Given the description of an element on the screen output the (x, y) to click on. 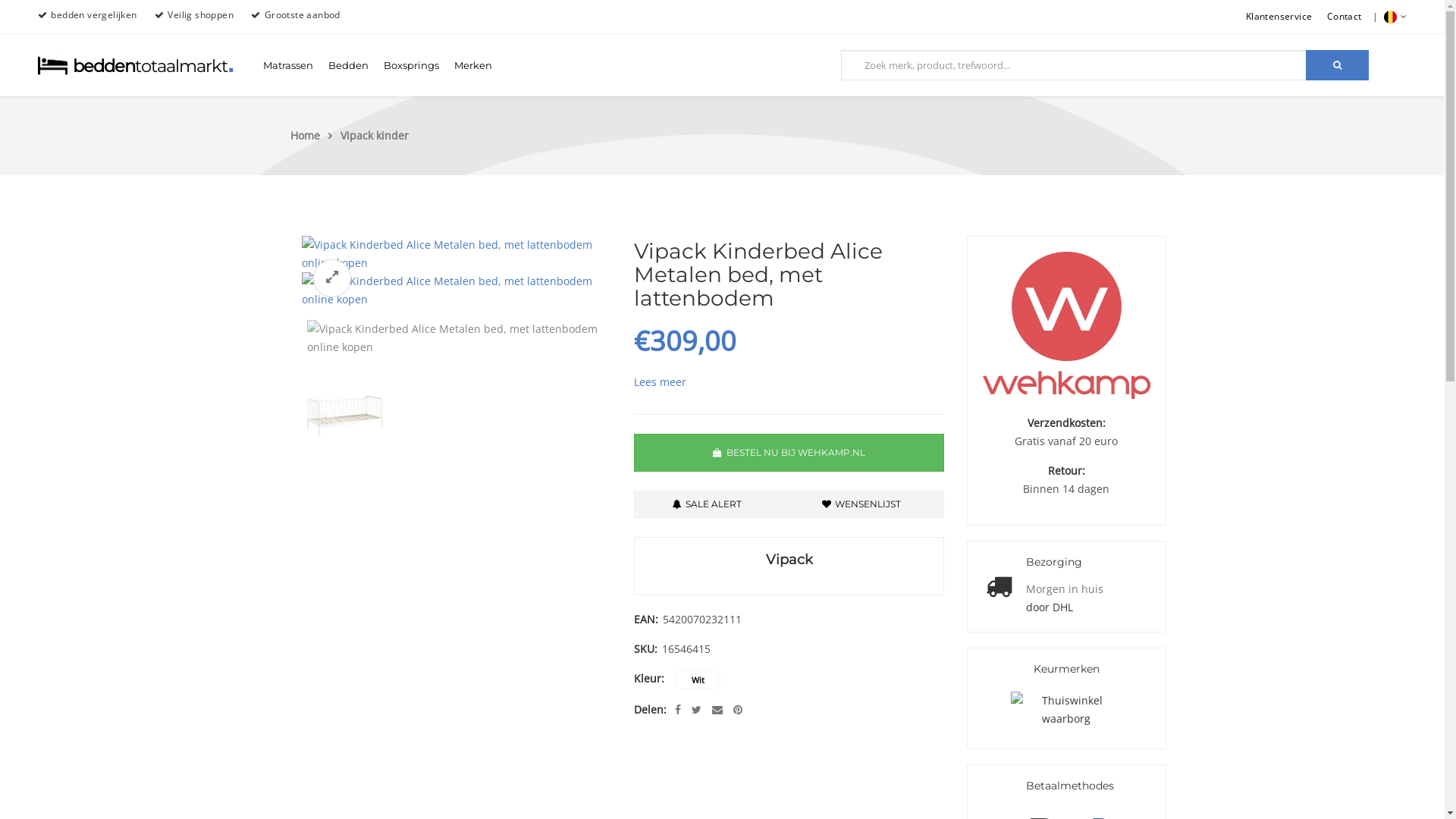
Merken Element type: text (472, 65)
WENSENLIJST Element type: text (860, 504)
SALE ALERT Element type: text (706, 504)
Boxsprings Element type: text (411, 65)
Bedden Element type: text (348, 65)
Matrassen Element type: text (287, 65)
BESTEL NU BIJ WEHKAMP.NL Element type: text (788, 452)
Vipack kinder Element type: text (373, 135)
beddentotaalmarkt. Element type: text (135, 72)
Lees meer Element type: text (659, 381)
Contact Element type: text (1344, 16)
Home Element type: text (312, 135)
Klantenservice Element type: text (1278, 16)
